Given the description of an element on the screen output the (x, y) to click on. 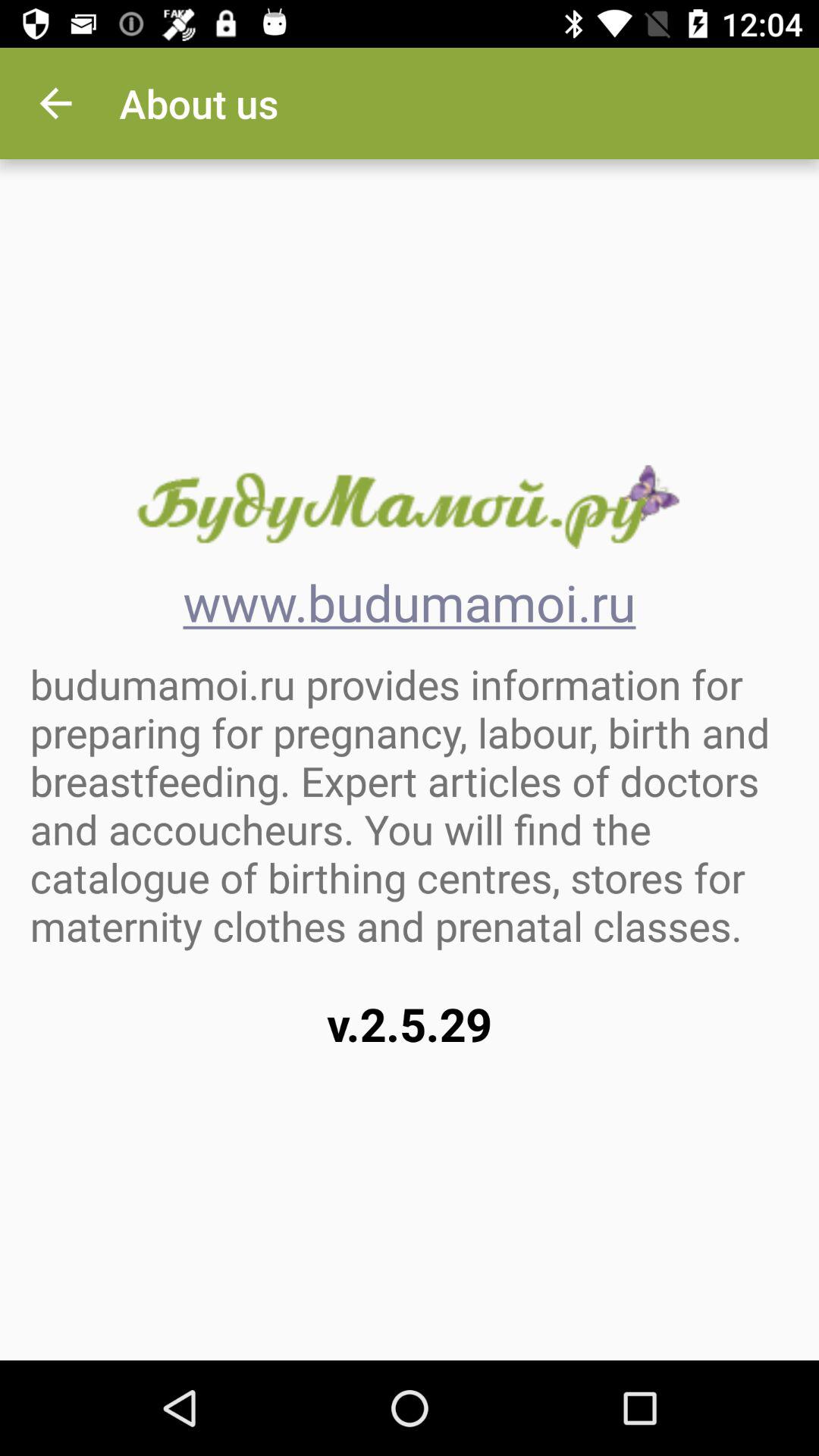
go to www.budumamoi.ru (409, 506)
